Given the description of an element on the screen output the (x, y) to click on. 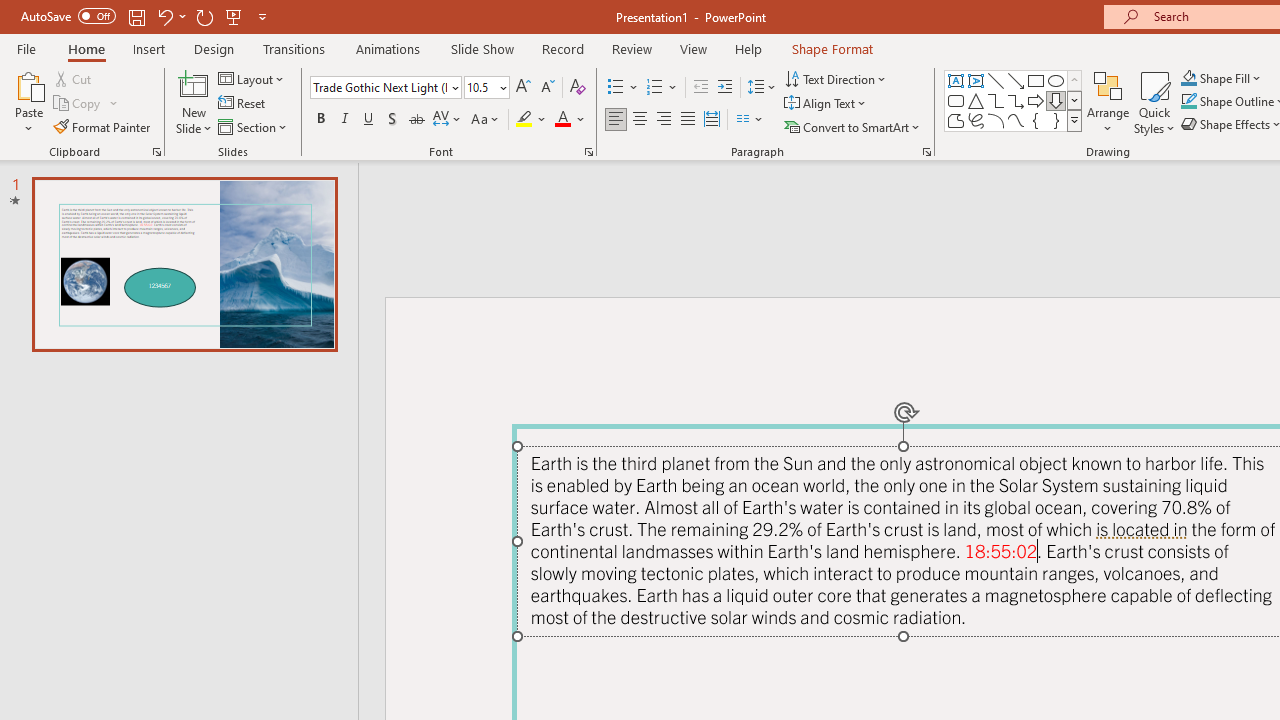
Shape Fill Aqua, Accent 2 (1188, 78)
